Given the description of an element on the screen output the (x, y) to click on. 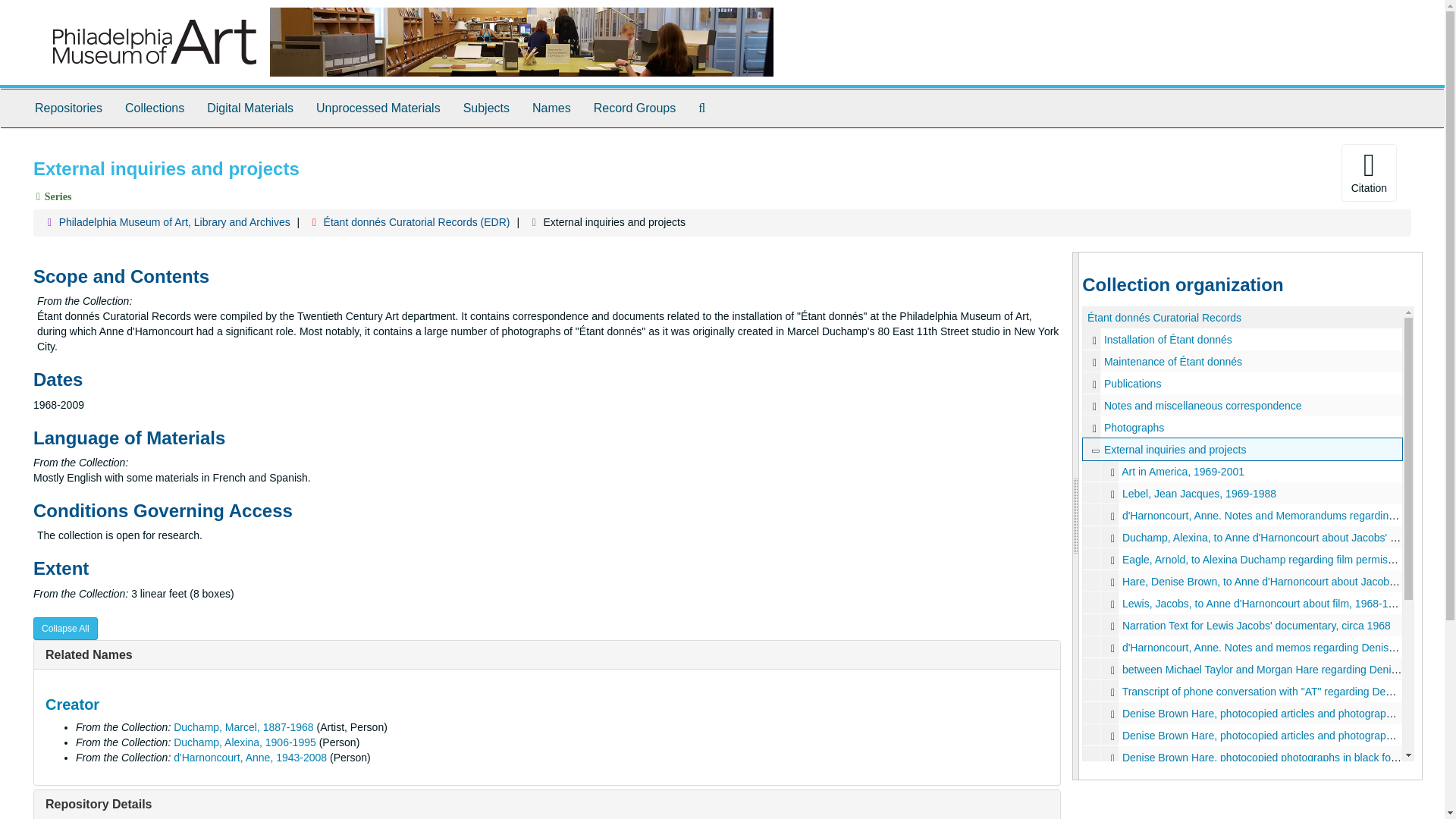
d'Harnoncourt, Anne, 1943-2008 (249, 757)
External inquiries and projects (1242, 449)
Lebel, Jean Jacques (1242, 493)
Philadelphia Museum of Art, Library and Archives (174, 222)
Unprocessed Materials (377, 108)
Art in America, 1969-2001 (1182, 471)
Photographs (1242, 427)
Hare, Denise Brown, to Anne d'Harnoncourt about Jacobs' film (1242, 581)
Notes and miscellaneous correspondence (1242, 404)
Digital Materials (249, 108)
Art in America (1242, 471)
Narration Text for Lewis Jacobs' documentary (1242, 625)
Notes and miscellaneous correspondence (1093, 404)
Notes and miscellaneous correspondence (1202, 405)
Duchamp, Alexina, 1906-1995 (244, 742)
